Given the description of an element on the screen output the (x, y) to click on. 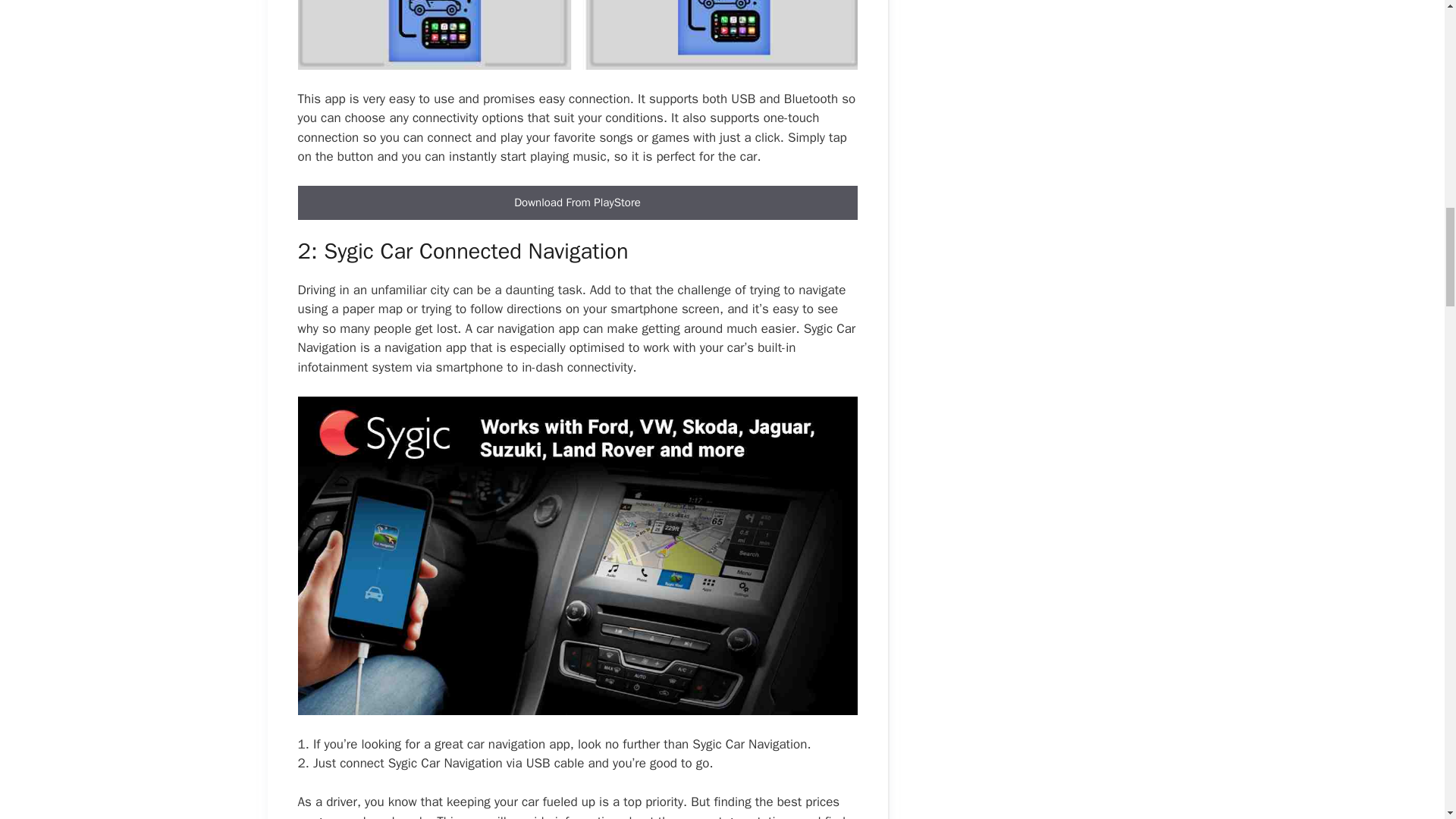
Download From PlayStore (577, 201)
Download From PlayStore (577, 202)
